Given the description of an element on the screen output the (x, y) to click on. 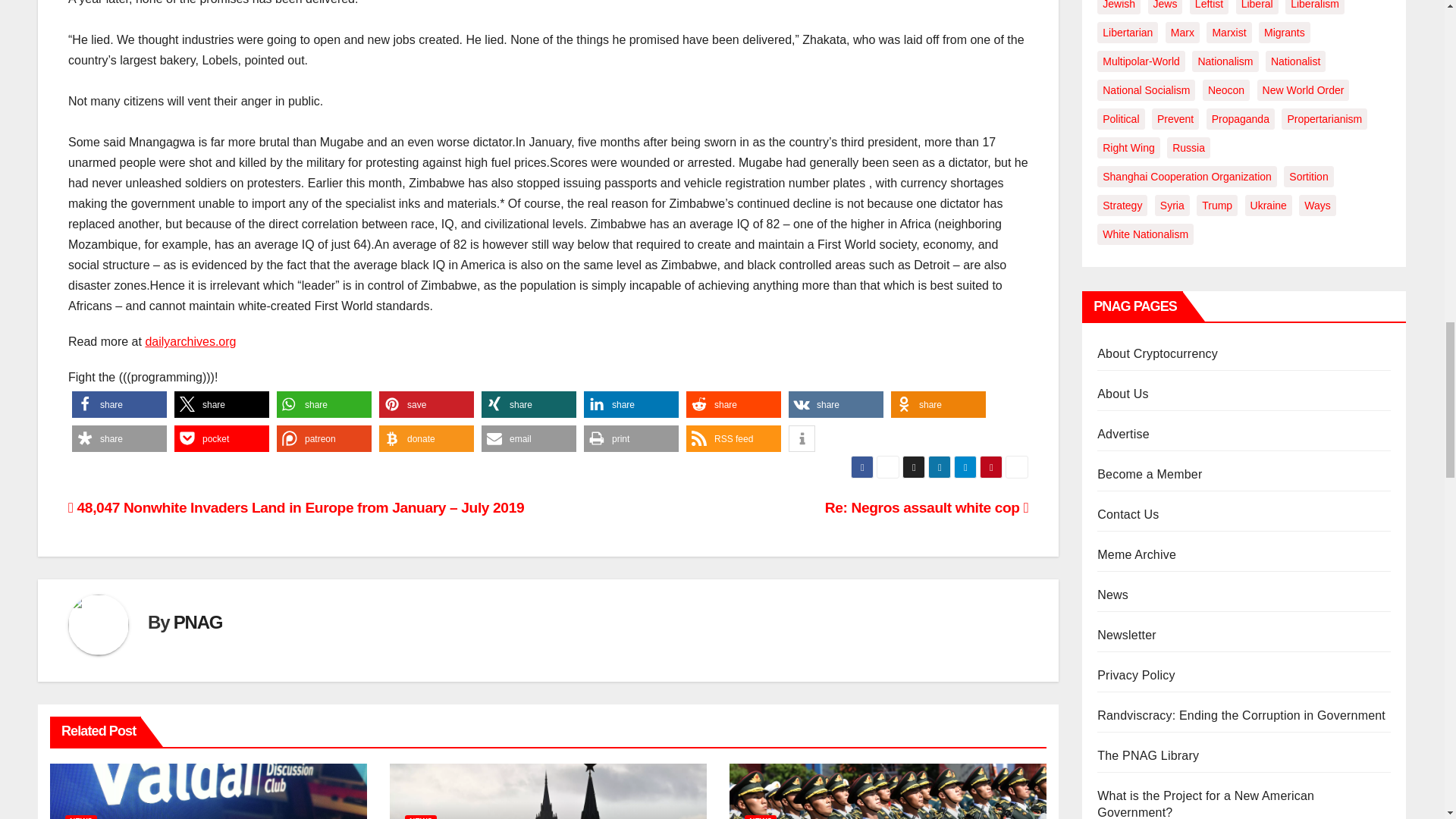
dailyarchives.org (189, 341)
share  (426, 404)
share  (732, 404)
share  (221, 404)
share  (323, 404)
Share on Facebook (630, 404)
